Given the description of an element on the screen output the (x, y) to click on. 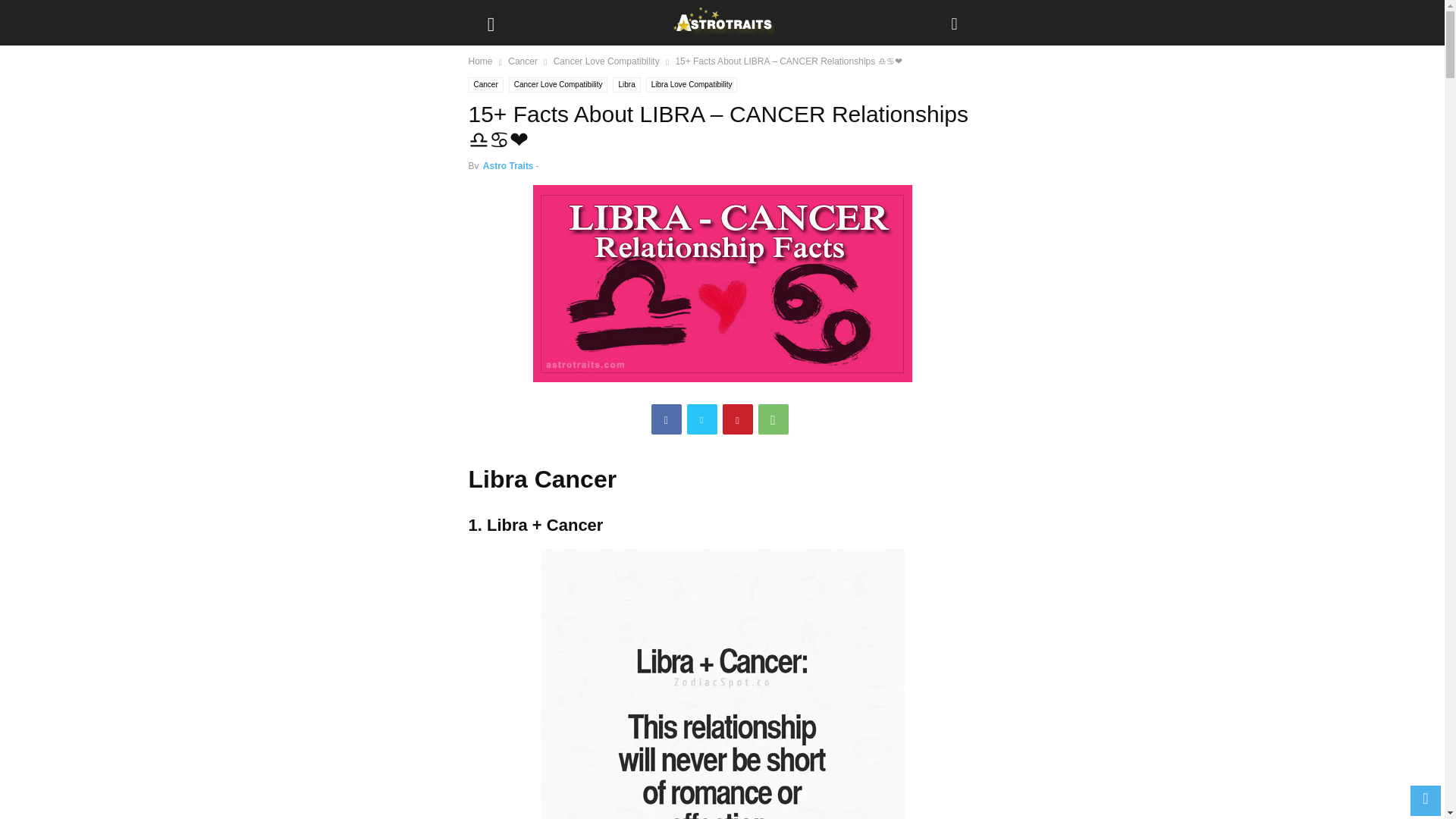
Twitter (702, 419)
View all posts in Cancer (522, 61)
Pinterest (737, 419)
Cancer Love Compatibility (558, 84)
Cancer Love Compatibility (606, 61)
WhatsApp (773, 419)
Libra Love Compatibility (692, 84)
Cancer (485, 84)
Facebook (665, 419)
View all posts in Cancer Love Compatibility (606, 61)
Astro Traits (508, 165)
libra-cancer-relationship-facts (722, 283)
Libra (626, 84)
